Given the description of an element on the screen output the (x, y) to click on. 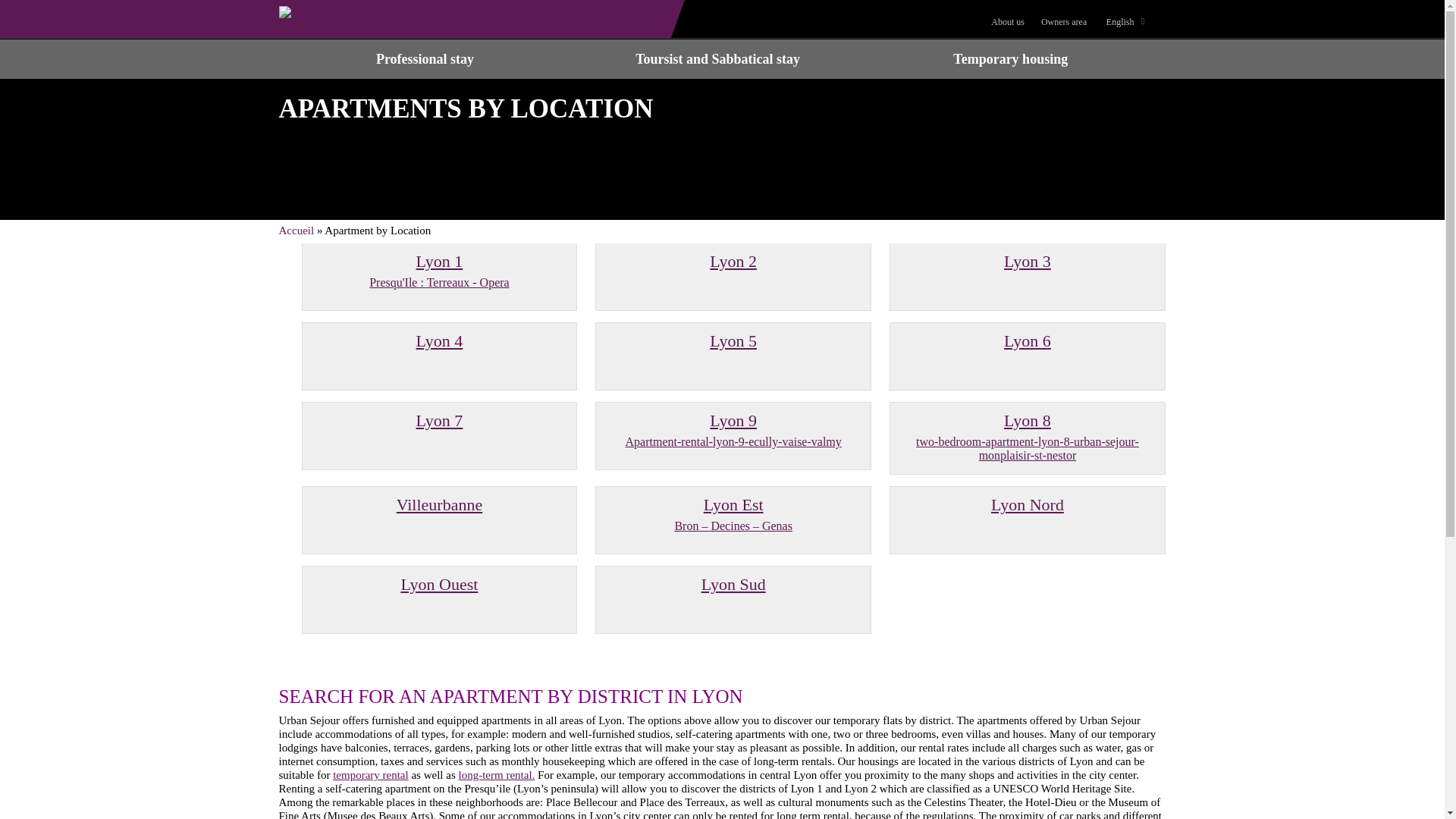
English (1124, 21)
Temporary housing (1010, 58)
temporary rental (371, 775)
About us (1008, 21)
Owners area (1063, 21)
Lyon 4 (440, 341)
Accueil (296, 230)
Lyon 5 (733, 341)
Lyon Ouest (440, 584)
Lyon 7 (733, 431)
Villeurbanne (440, 420)
Lyon Sud (440, 504)
